Given the description of an element on the screen output the (x, y) to click on. 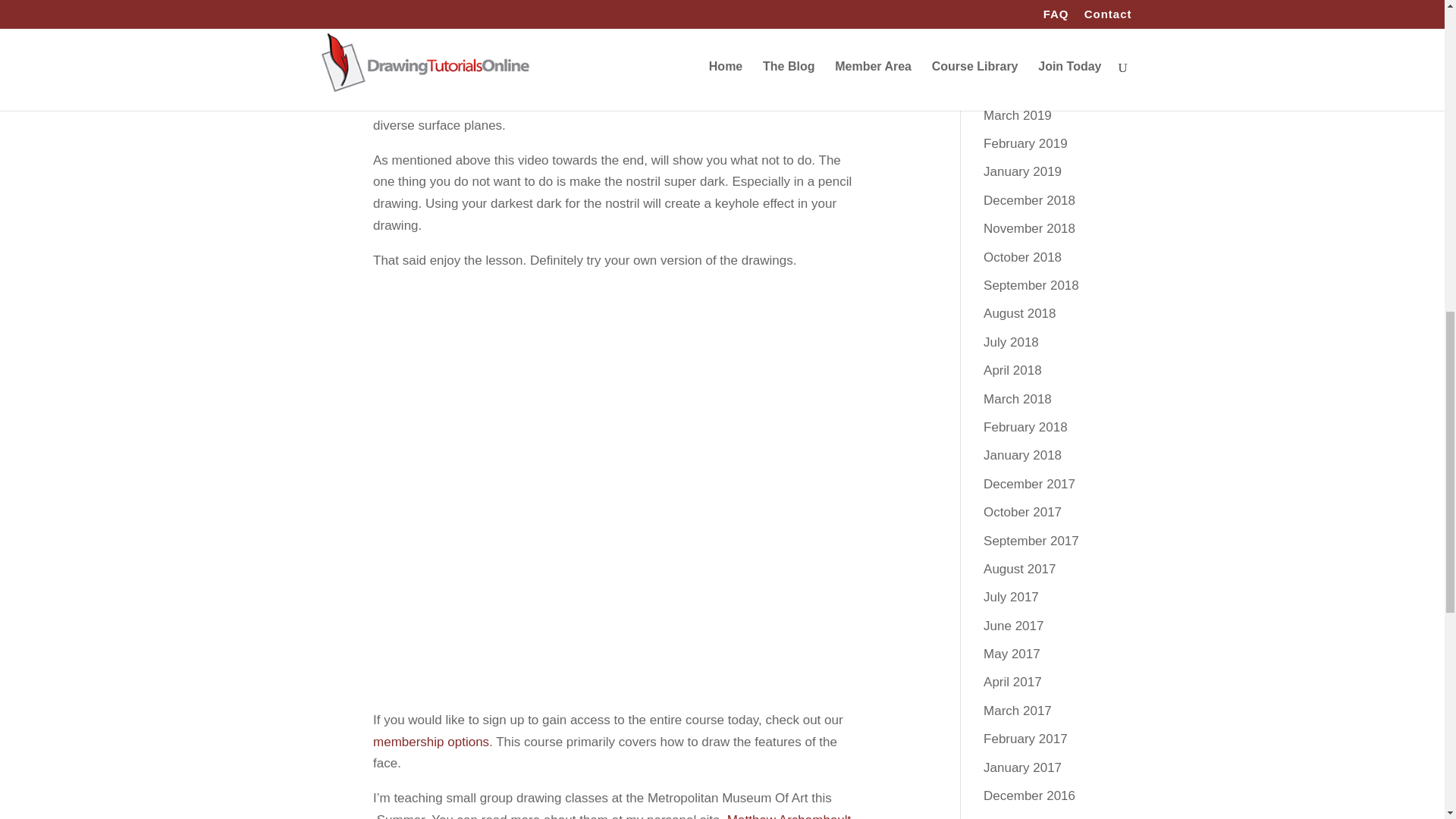
Matthew Archambault (788, 816)
membership options (430, 741)
How To Draw The Structure Of The Nose (614, 524)
